Given the description of an element on the screen output the (x, y) to click on. 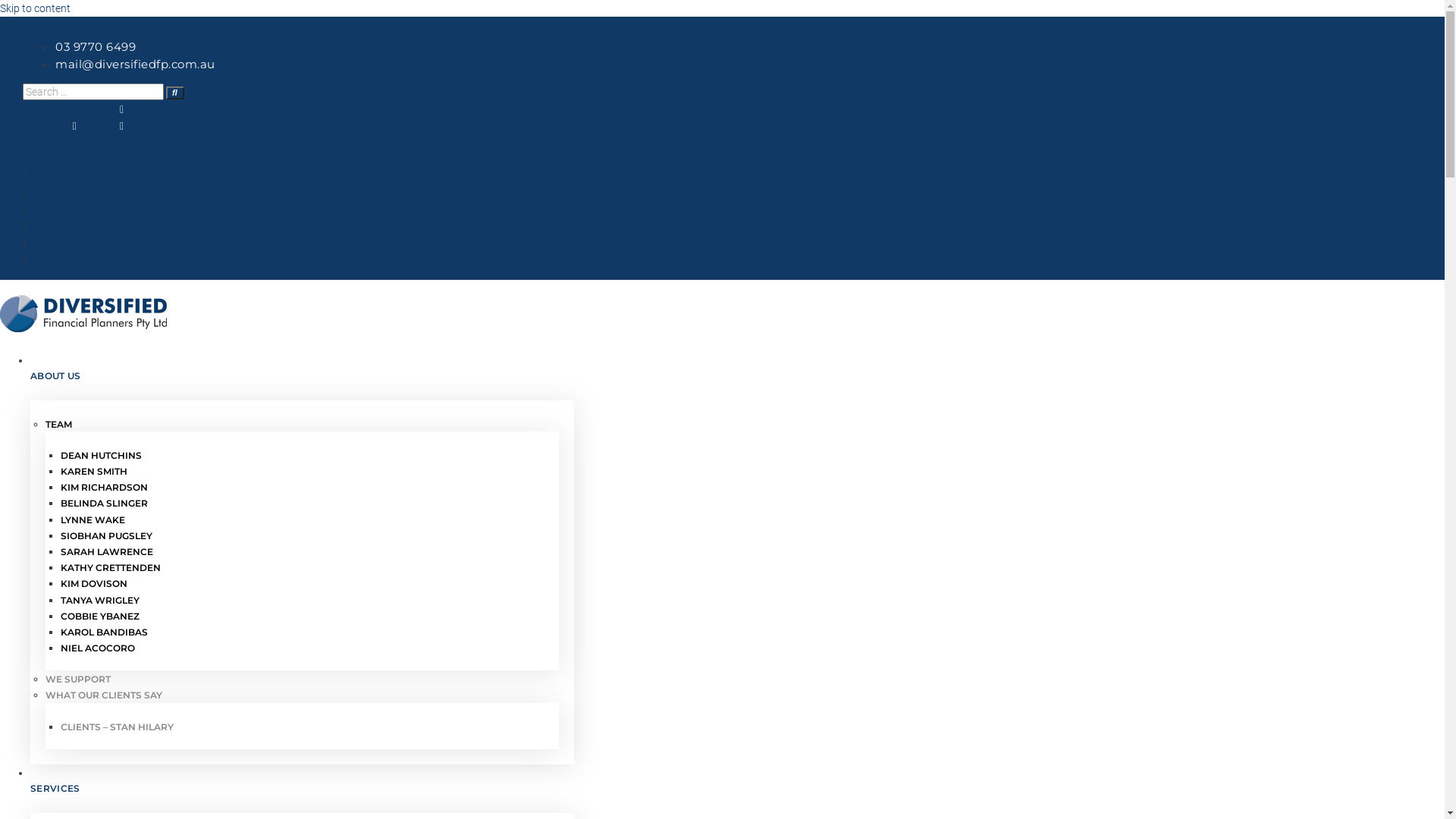
03 9770 6499 Element type: text (94, 46)
KIM DOVISON Element type: text (301, 583)
TEAM Element type: text (301, 424)
mail@diversifiedfp.com.au Element type: text (134, 63)
SARAH LAWRENCE Element type: text (301, 551)
SIOBHAN PUGSLEY Element type: text (301, 535)
Facebook-f Element type: text (93, 109)
WE SUPPORT Element type: text (301, 678)
LYNNE WAKE Element type: text (301, 519)
NIEL ACOCORO Element type: text (301, 647)
Youtube Element type: text (54, 125)
DEAN HUTCHINS Element type: text (301, 455)
KIM RICHARDSON Element type: text (301, 487)
KAREN SMITH Element type: text (301, 471)
COBBIE YBANEZ Element type: text (301, 615)
Linkedin Element type: text (100, 125)
WHAT OUR CLIENTS SAY Element type: text (301, 694)
BELINDA SLINGER Element type: text (301, 502)
ABOUT US Element type: text (302, 376)
SERVICES Element type: text (302, 788)
Skip to content Element type: text (35, 8)
KAROL BANDIBAS Element type: text (301, 631)
TANYA WRIGLEY Element type: text (301, 600)
KATHY CRETTENDEN Element type: text (301, 567)
